Given the description of an element on the screen output the (x, y) to click on. 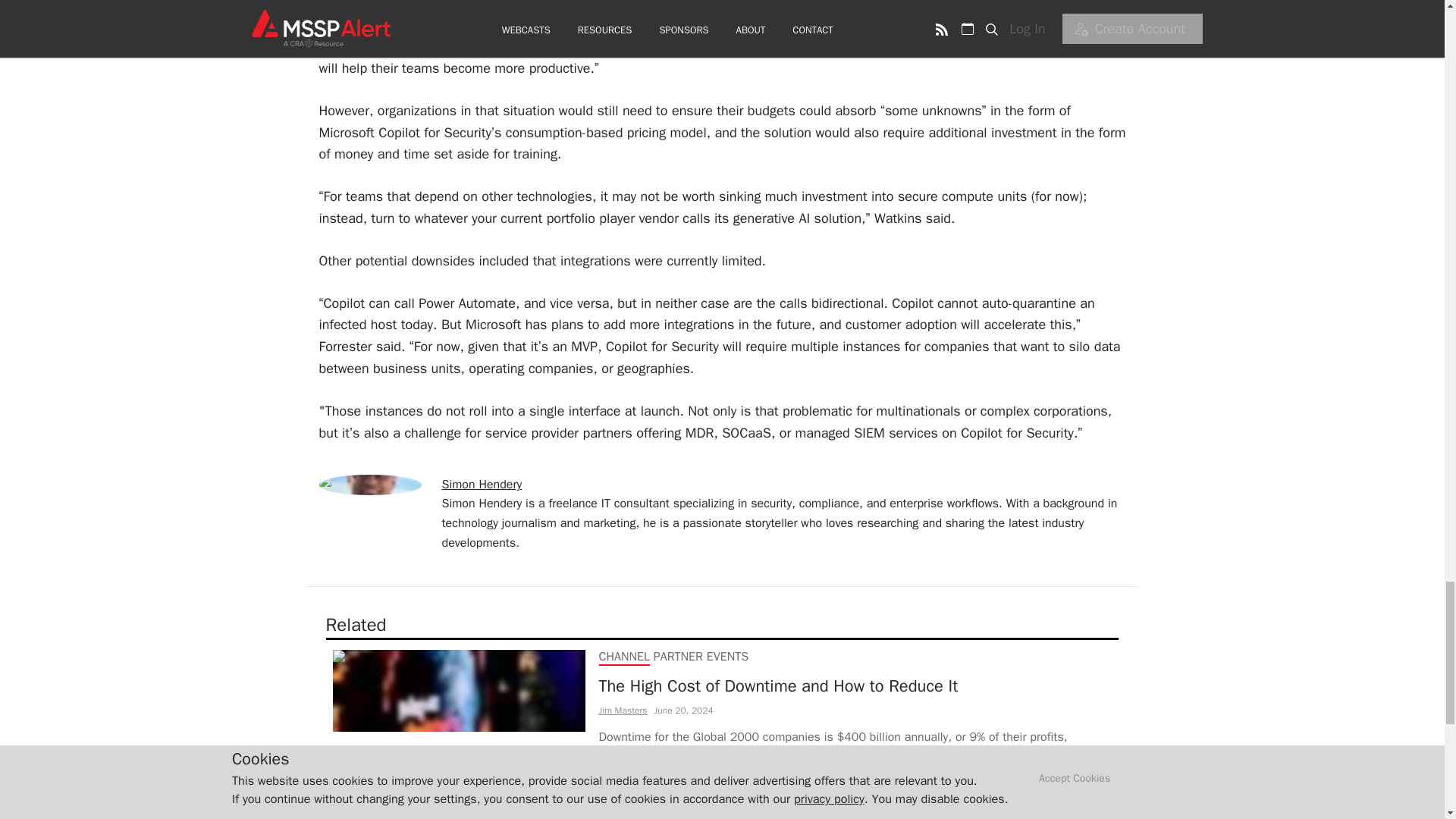
CHANNEL PARTNER EVENTS (673, 656)
Simon Hendery (481, 484)
Jim Masters (622, 710)
The High Cost of Downtime and How to Reduce It (855, 686)
SOAR (613, 805)
